Given the description of an element on the screen output the (x, y) to click on. 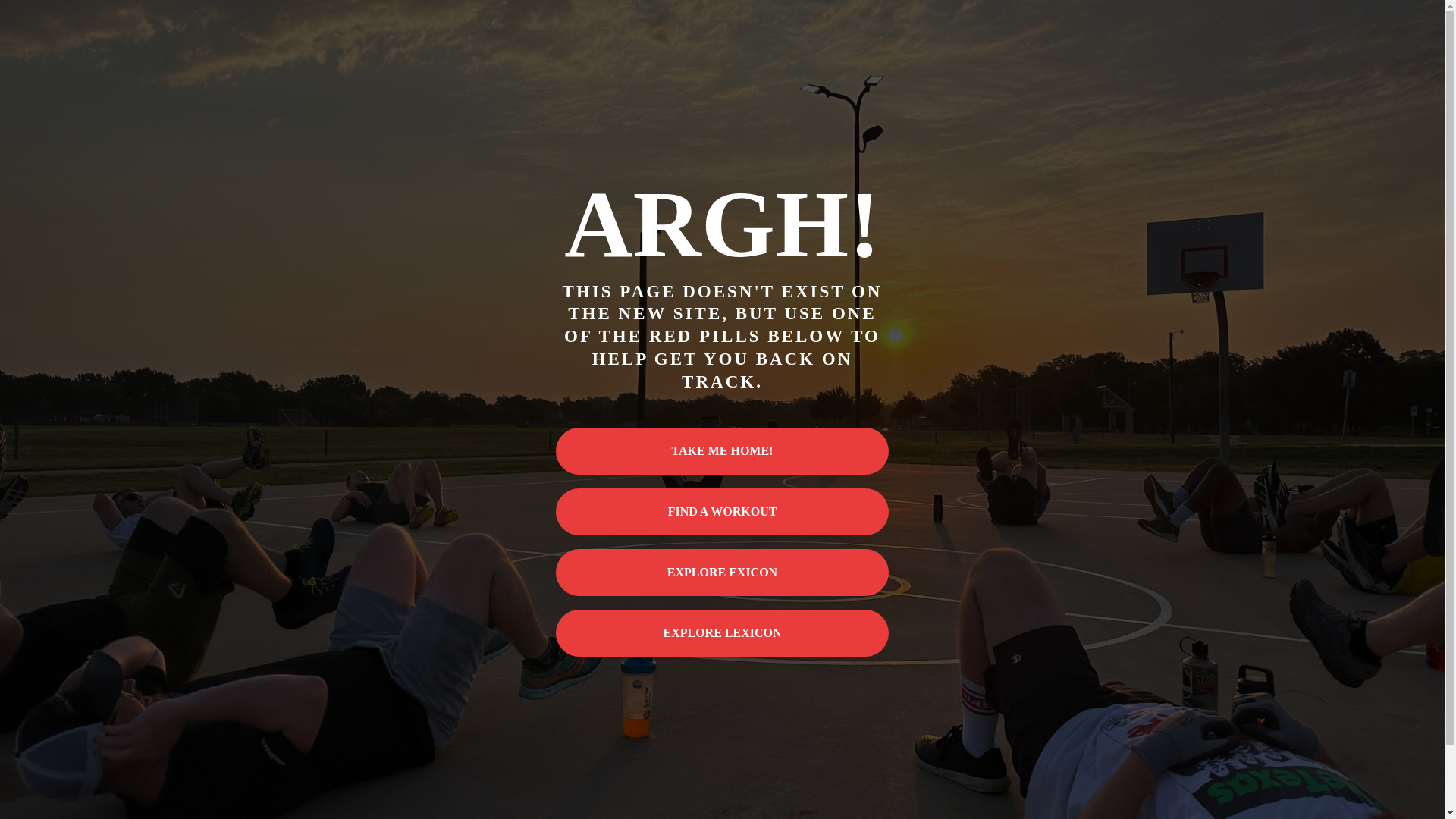
TAKE ME HOME! (722, 451)
FIND A WORKOUT (722, 511)
EXPLORE LEXICON (722, 632)
EXPLORE EXICON (722, 572)
